Given the description of an element on the screen output the (x, y) to click on. 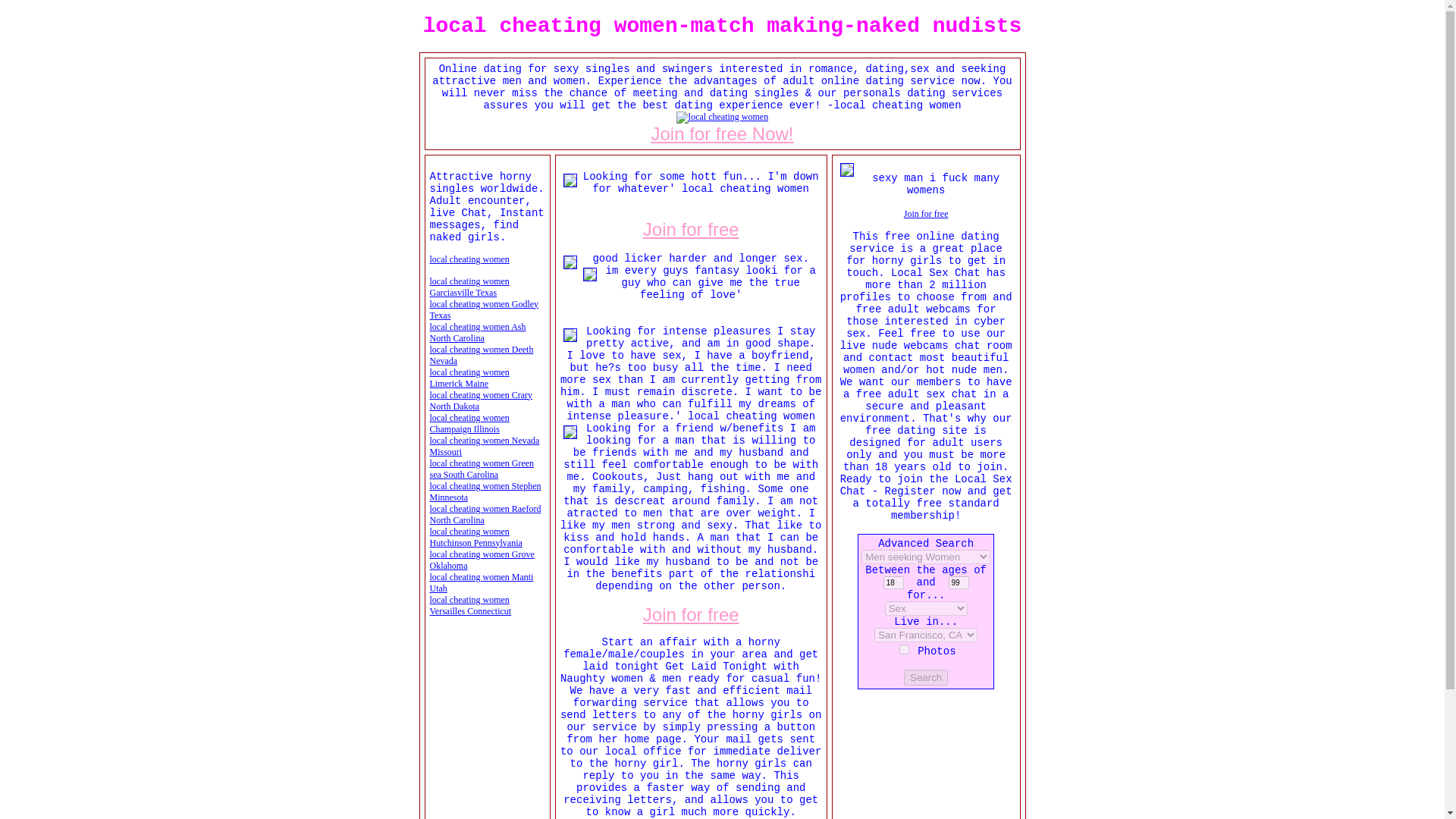
local cheating women Garciasville Texas (468, 287)
Join for free (691, 613)
local cheating women Champaign Illinois (468, 423)
99 (959, 582)
local cheating women Versailles Connecticut (926, 607)
local cheating women (470, 605)
local cheating women Limerick Maine (468, 258)
local cheating women Manti Utah (468, 377)
Join for free Now! (480, 582)
local cheating women Godley Texas (721, 132)
local cheating women Grove Oklahoma (483, 309)
local cheating women Crary North Dakota (481, 559)
local cheating women Hutchinson Pennsylvania (480, 400)
